Given the description of an element on the screen output the (x, y) to click on. 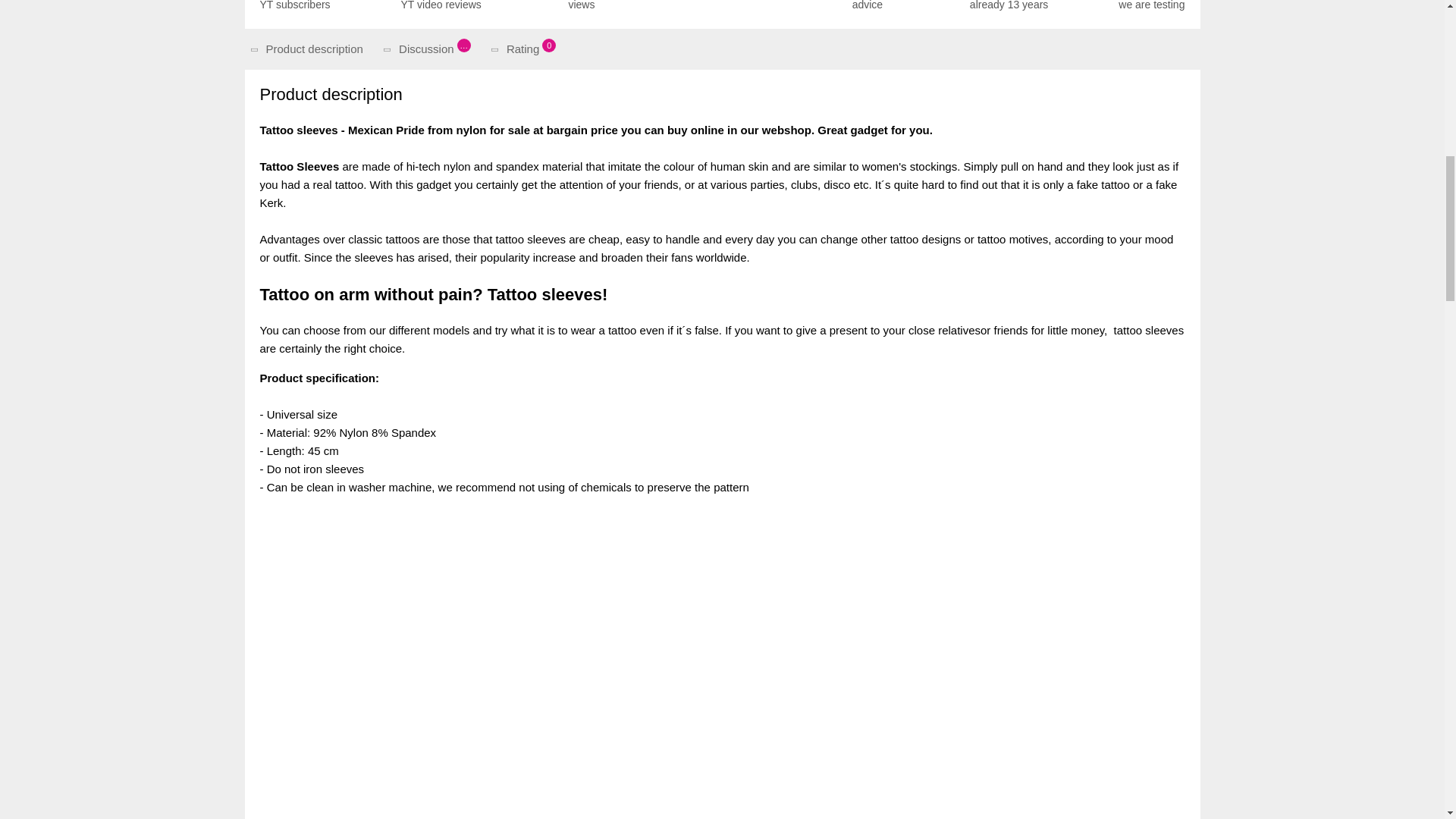
Product description (310, 48)
Rating 0 (867, 5)
